Given the description of an element on the screen output the (x, y) to click on. 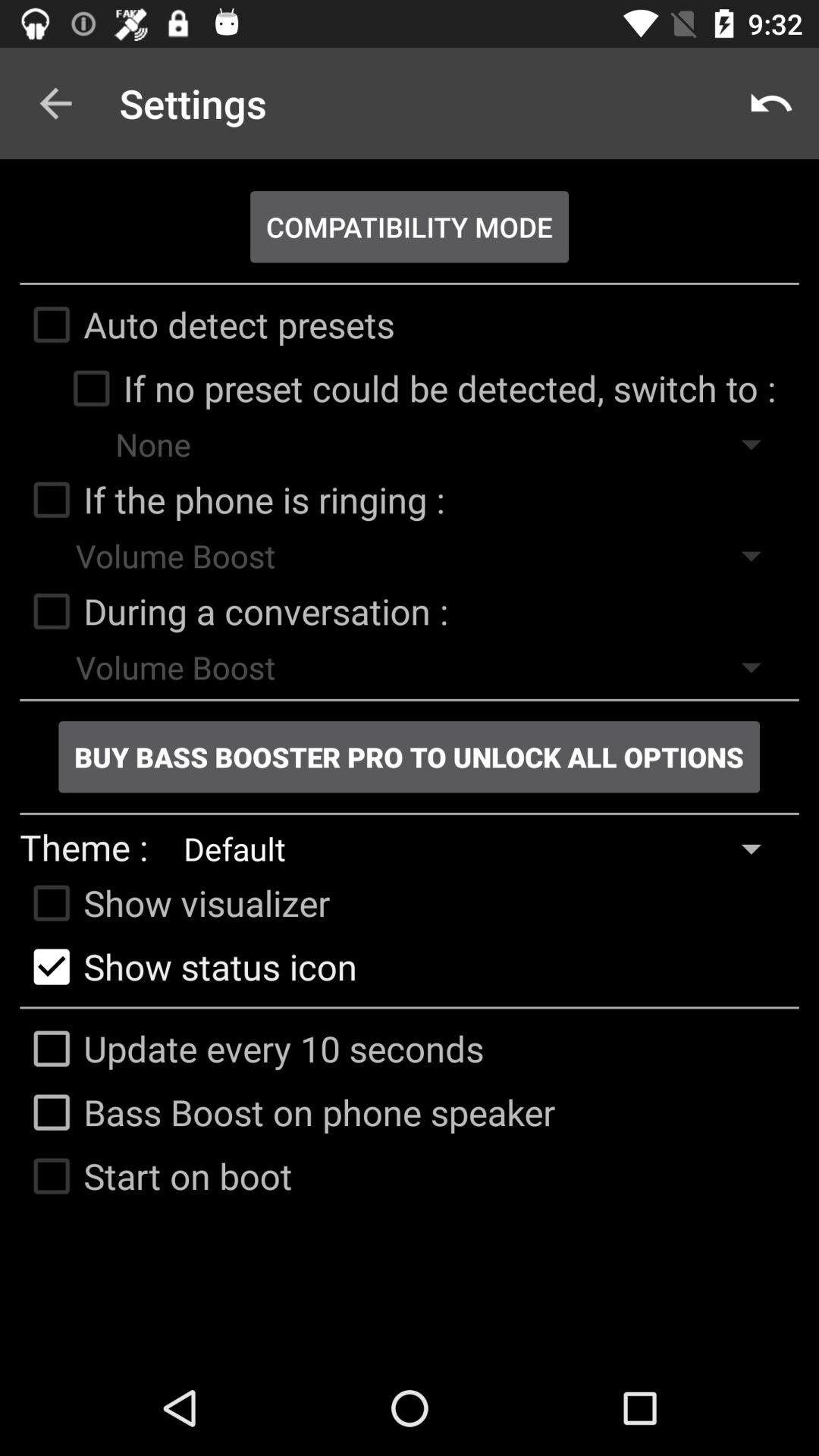
open the item above the none item (417, 388)
